Given the description of an element on the screen output the (x, y) to click on. 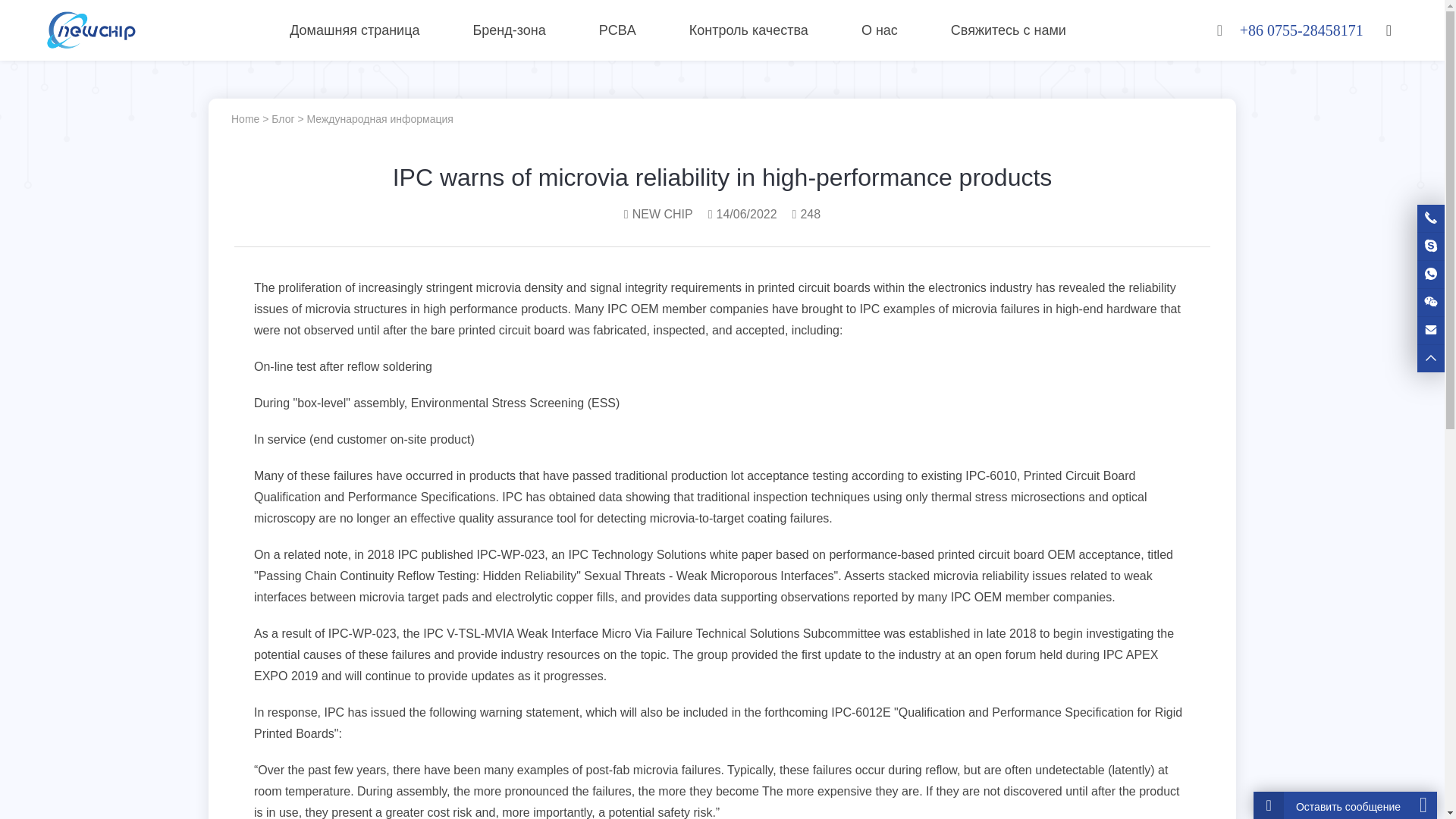
Skype (1430, 245)
Home (245, 119)
